Given the description of an element on the screen output the (x, y) to click on. 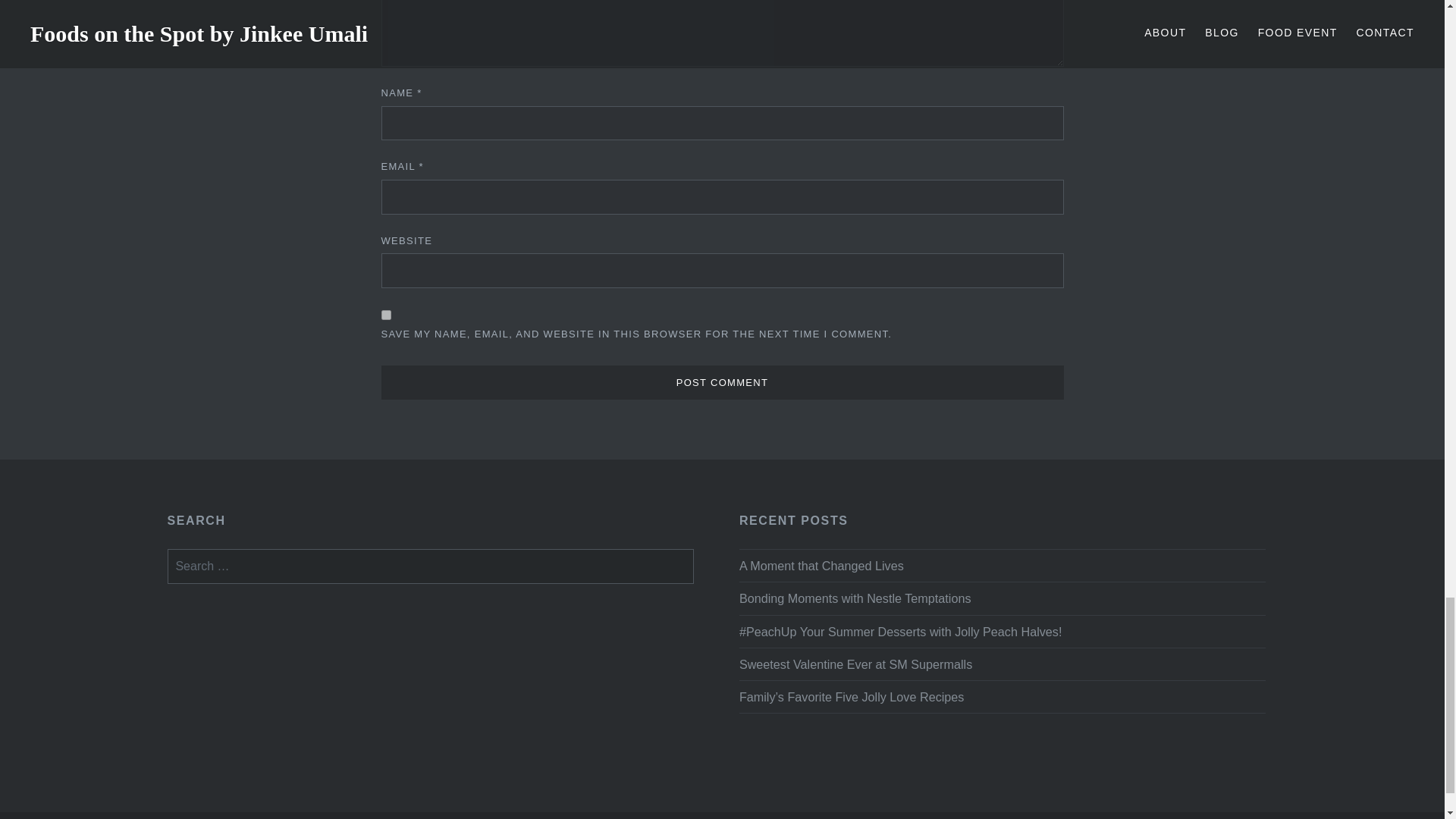
A Moment that Changed Lives (1002, 565)
yes (385, 315)
Post Comment (721, 382)
Sweetest Valentine Ever at SM Supermalls (1002, 664)
Post Comment (721, 382)
Bonding Moments with Nestle Temptations (1002, 598)
